Given the description of an element on the screen output the (x, y) to click on. 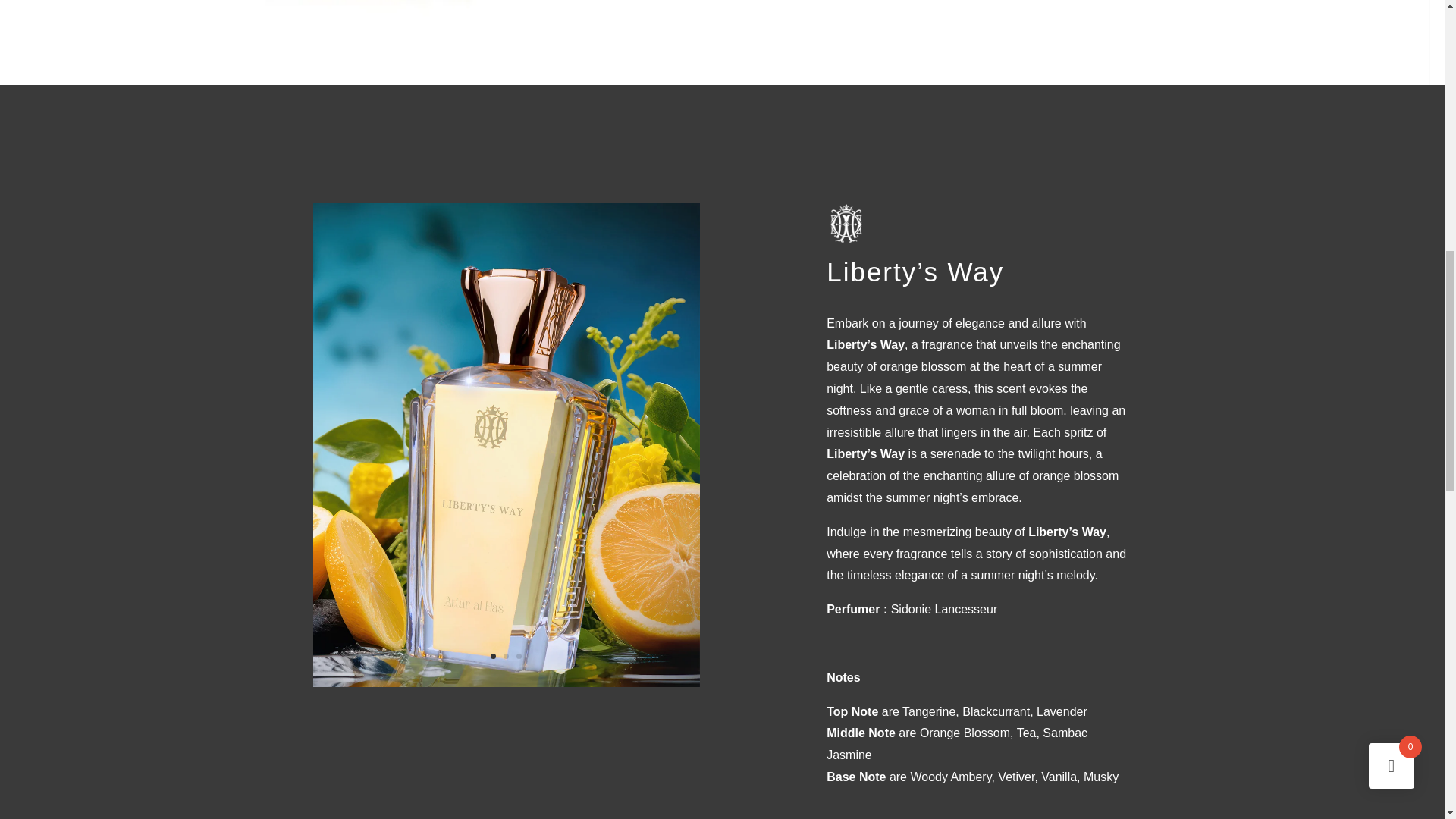
Libertys Way-Attar-Al-Has-1 (573, 23)
logo-512 (846, 222)
Libertys-way-Attar-Al-Has-1 (505, 683)
